Given the description of an element on the screen output the (x, y) to click on. 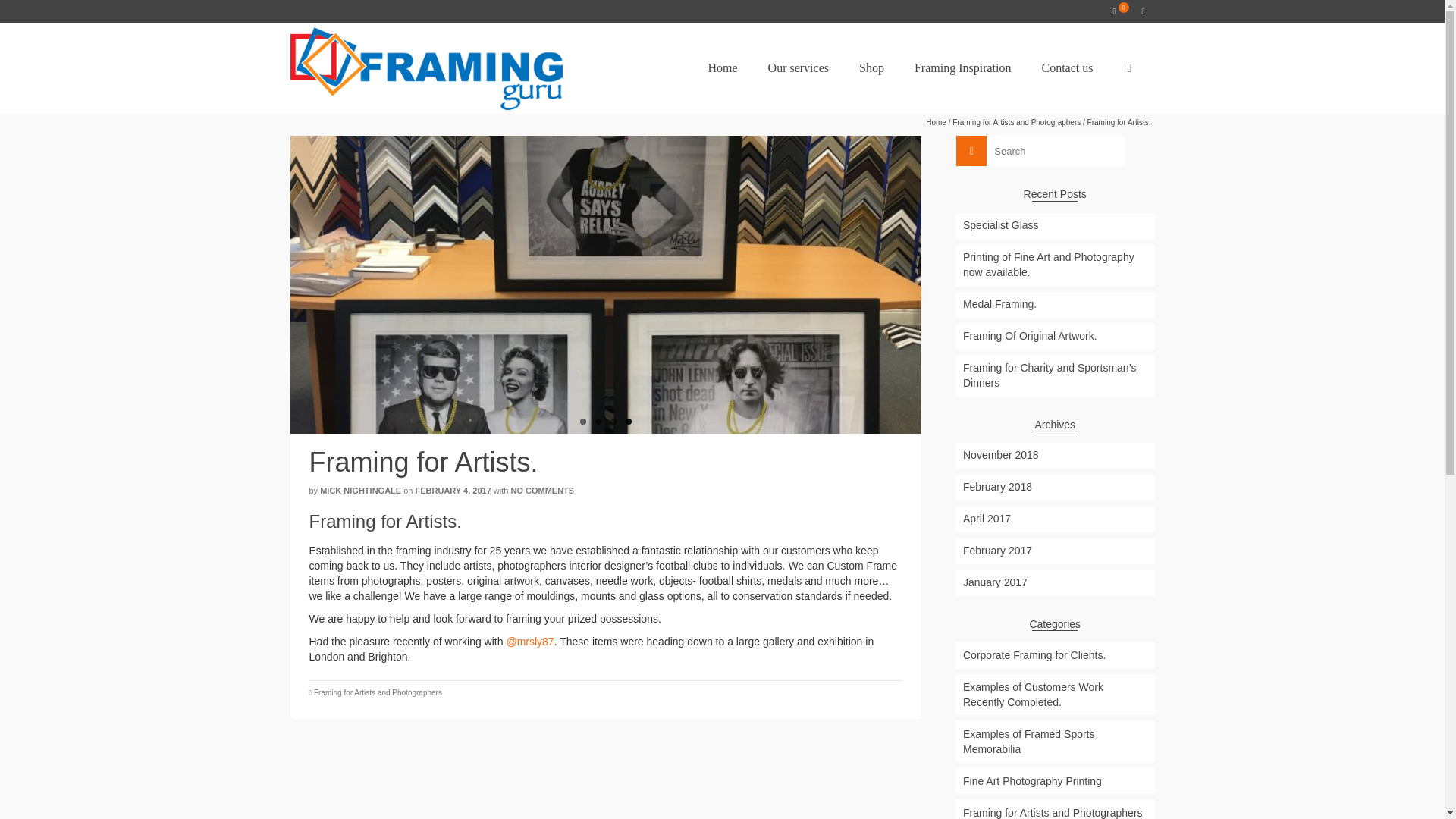
Our services (798, 67)
Home (936, 121)
Printing of Fine Art and Photography now available. (1054, 264)
MICK NIGHTINGALE (360, 490)
Framing for Artists and Photographers (1016, 121)
1 (582, 421)
Specialist Glass (1054, 225)
4 (628, 421)
3 (612, 421)
NO COMMENTS (542, 490)
Contact us (1067, 67)
0 (1120, 11)
2 (598, 421)
Framing for Artists and Photographers (378, 692)
Framing Inspiration (962, 67)
